Given the description of an element on the screen output the (x, y) to click on. 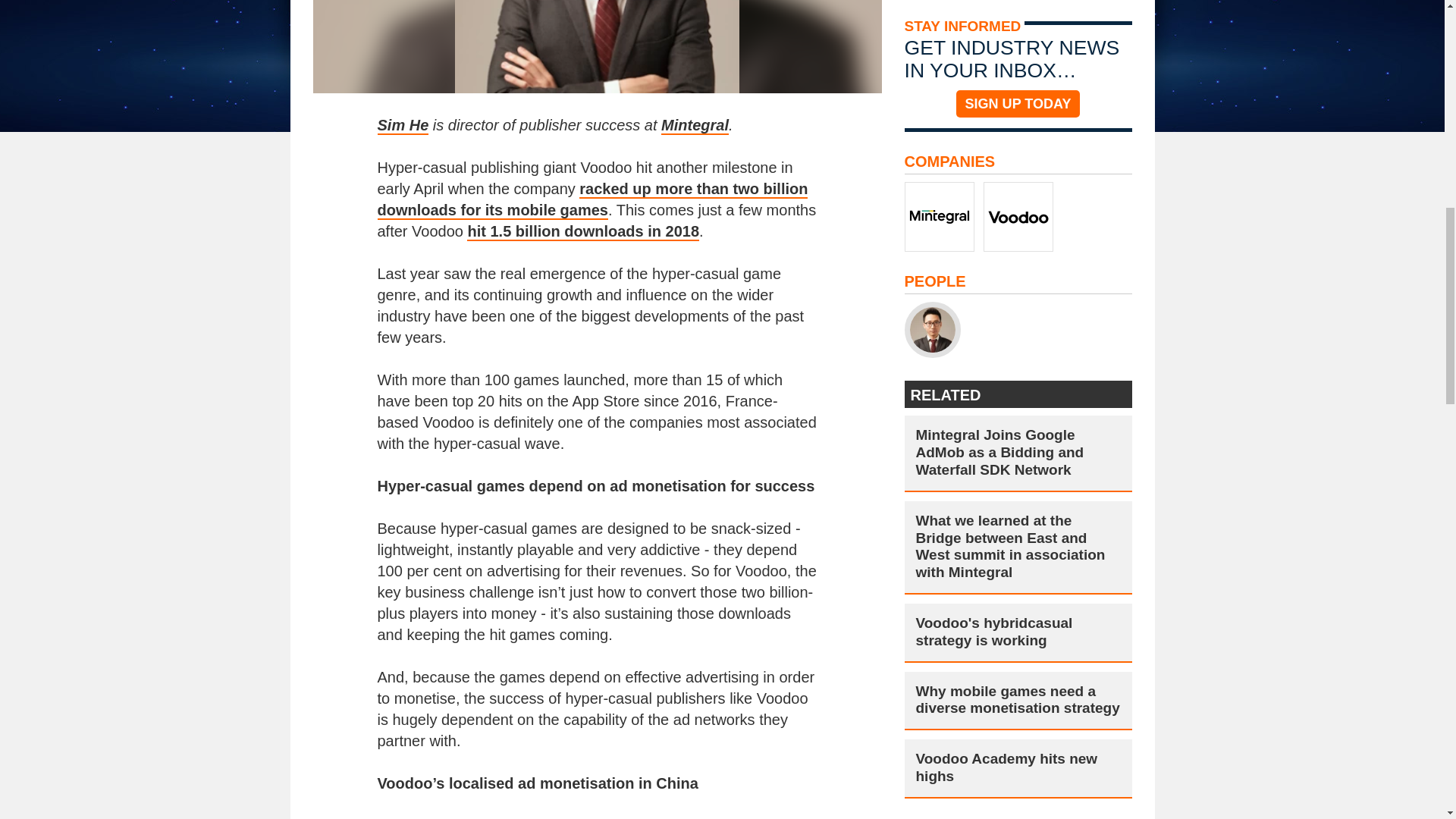
Sim He (403, 126)
hit 1.5 billion downloads in 2018 (582, 231)
Mintegral (695, 126)
